Given the description of an element on the screen output the (x, y) to click on. 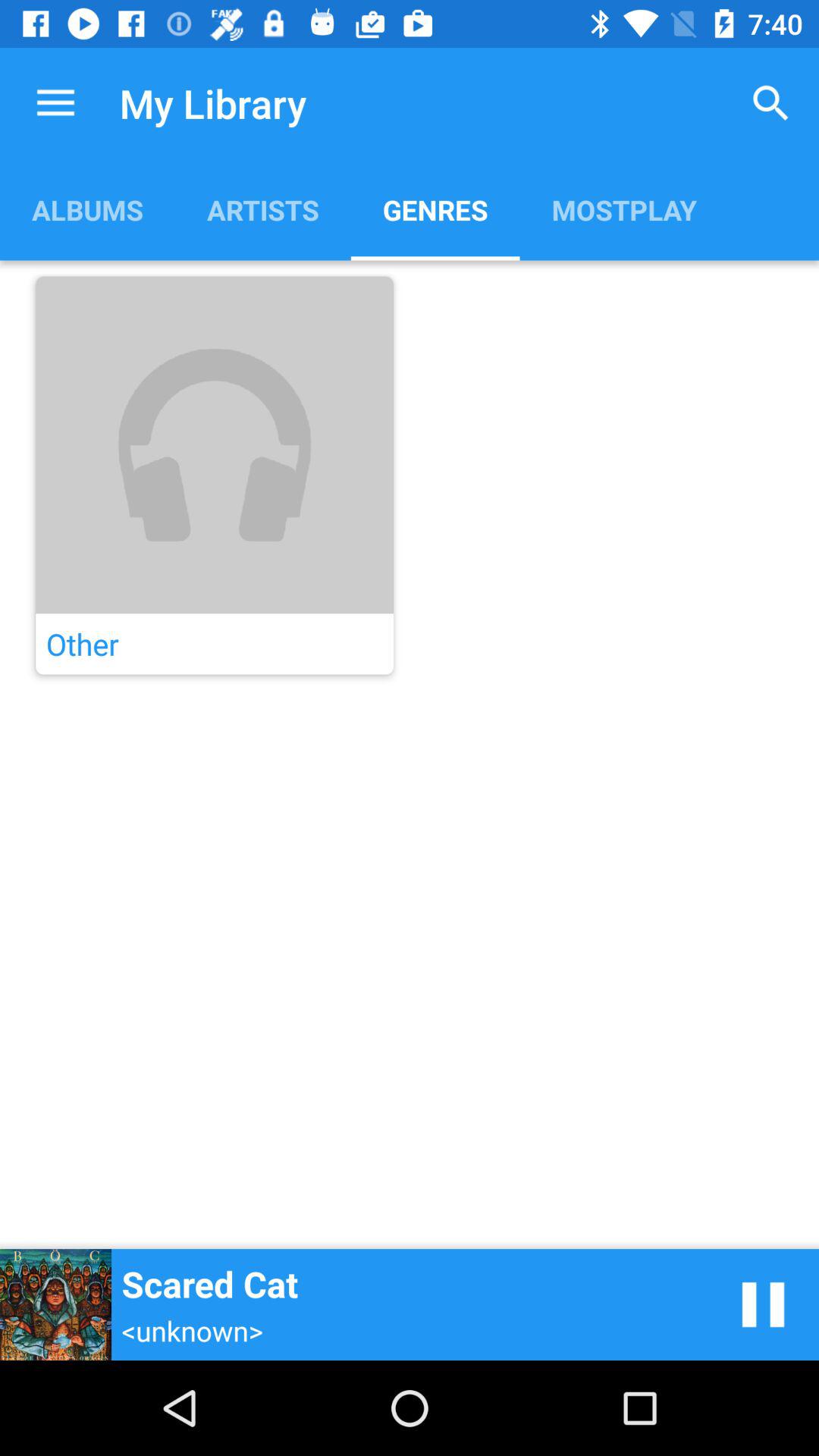
pauses (763, 1304)
